Given the description of an element on the screen output the (x, y) to click on. 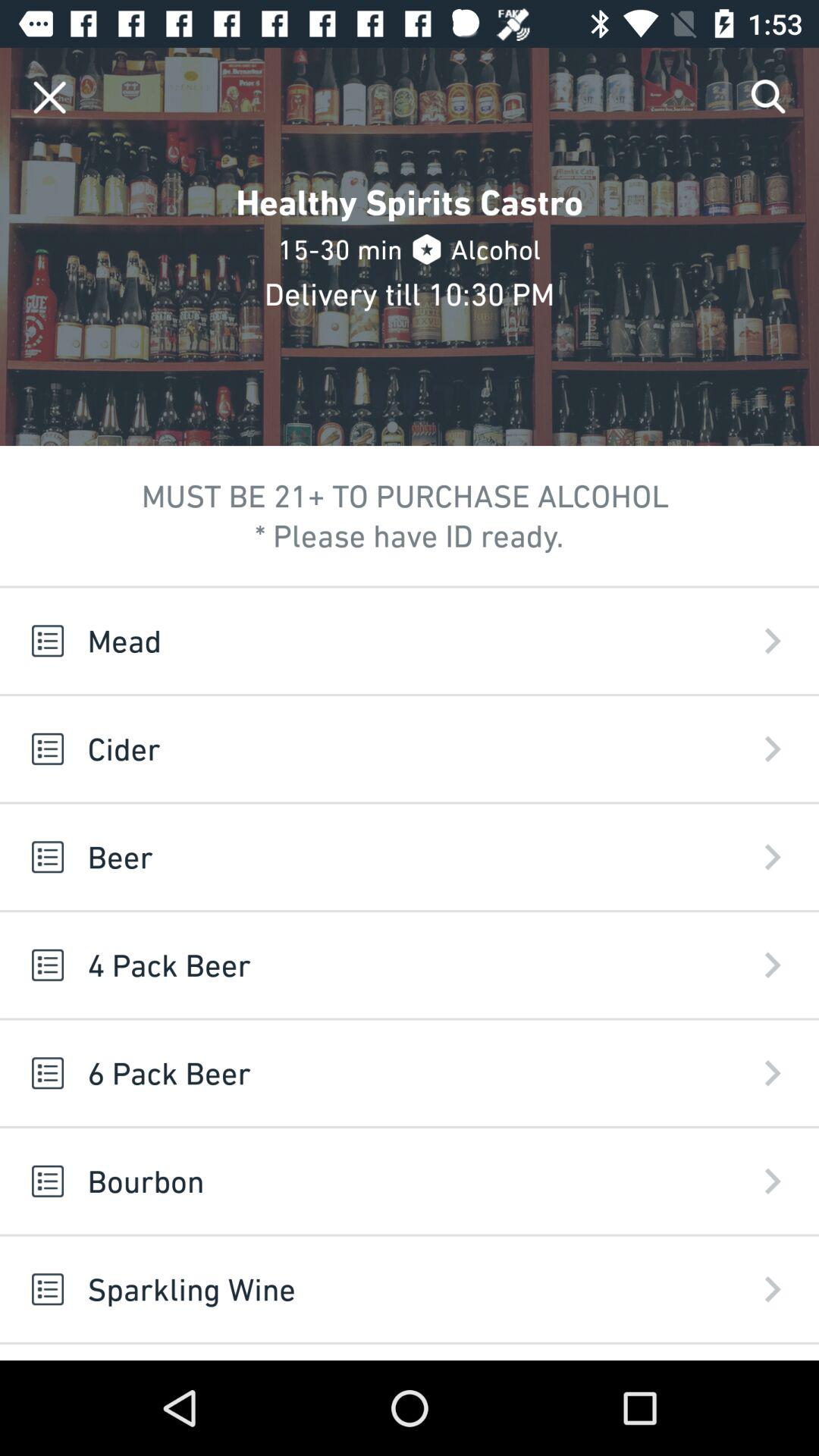
click on search option (769, 97)
